Given the description of an element on the screen output the (x, y) to click on. 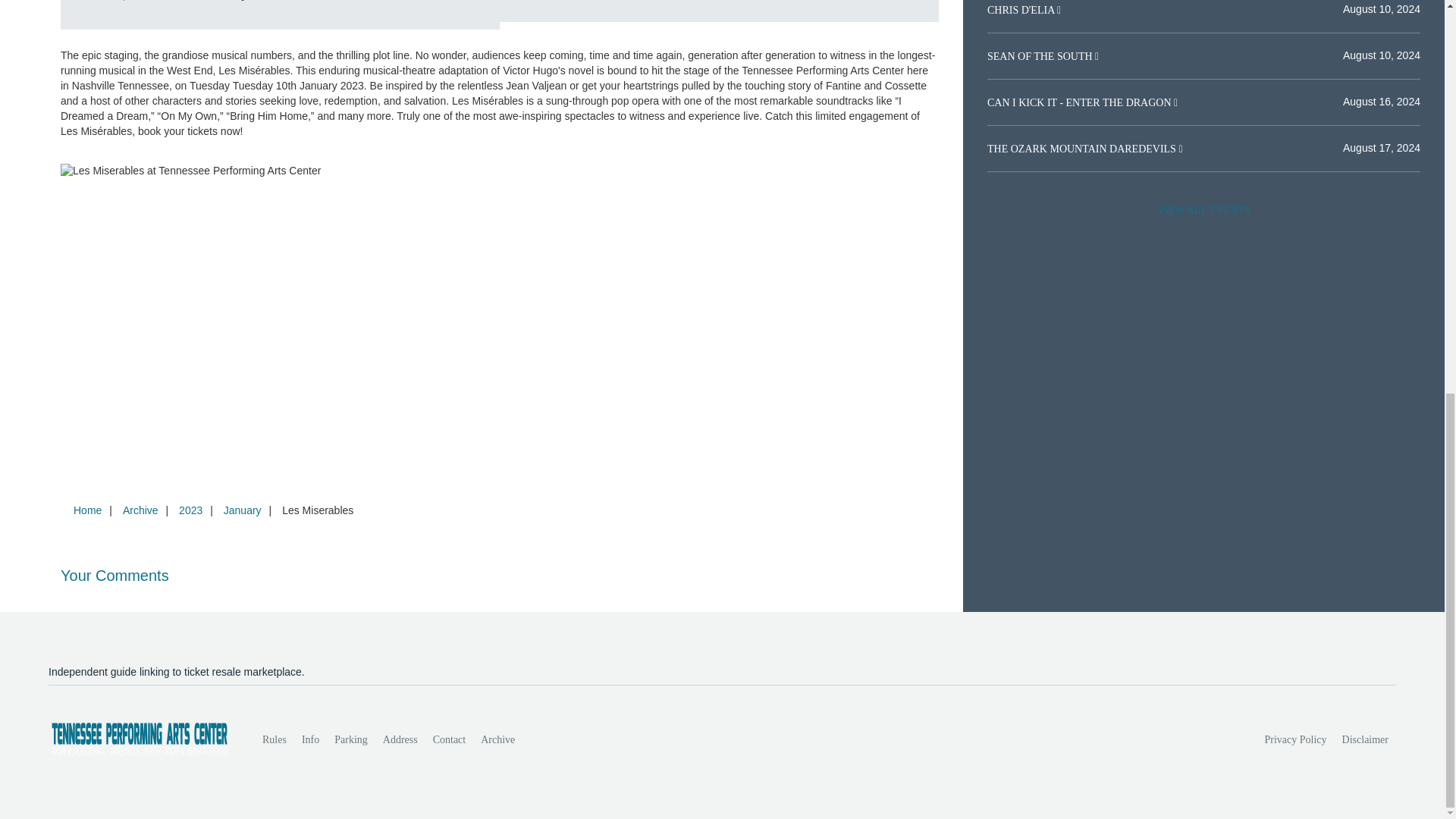
SEAN OF THE SOUTH (1040, 56)
Archive (140, 510)
Rules (274, 739)
Info (310, 739)
Home (87, 510)
Les Miserables at Tennessee Performing Arts Center tickets (500, 171)
Contact (449, 739)
Parking (350, 739)
Address (400, 739)
Les Miserables at Tennessee Performing Arts Center (786, 11)
2023 (190, 510)
VIEW ALL EVENTS (1203, 210)
THE OZARK MOUNTAIN DAREDEVILS (1082, 148)
Privacy Policy (1296, 739)
Disclaimer (1365, 739)
